Given the description of an element on the screen output the (x, y) to click on. 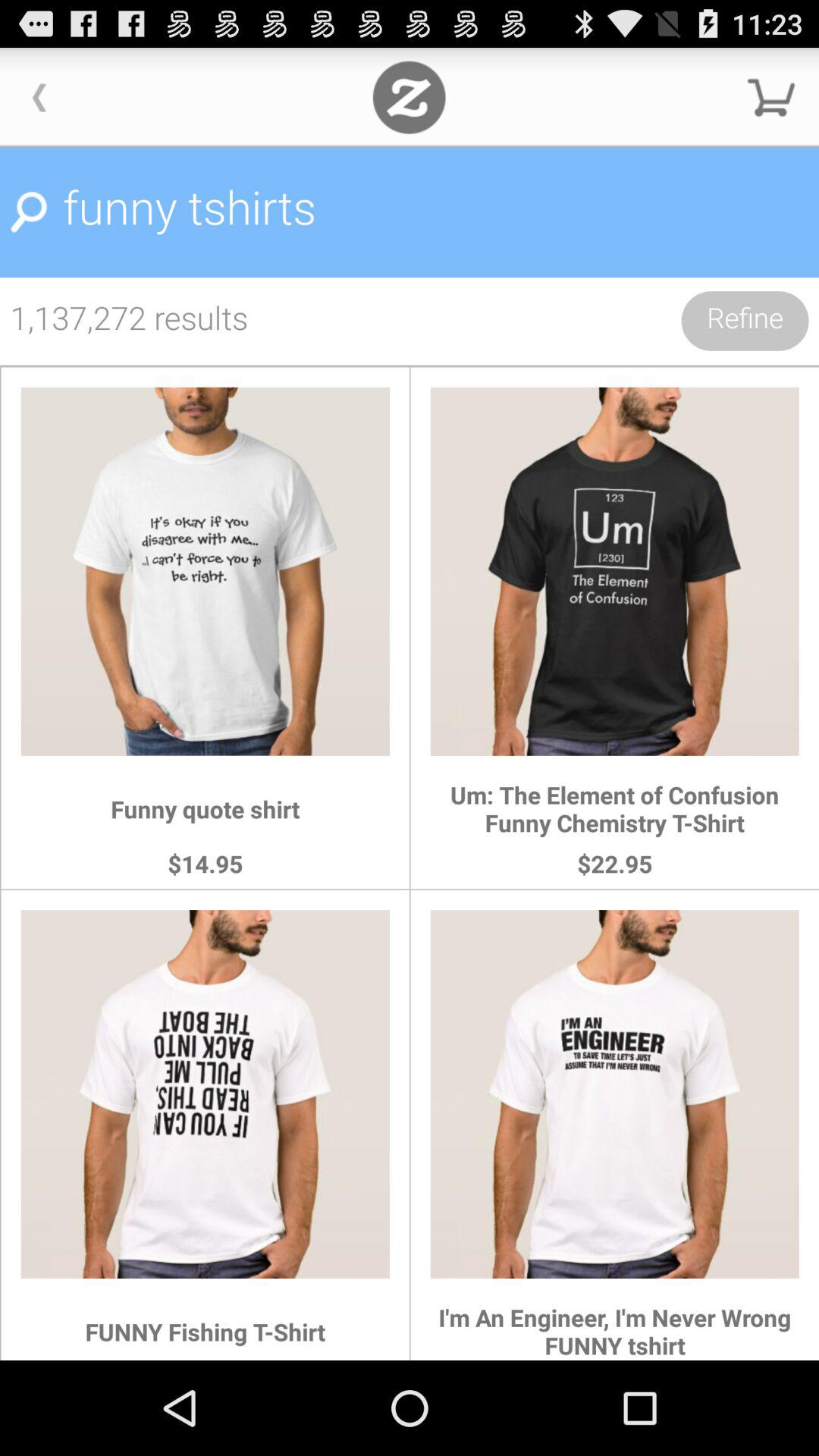
go to cart (771, 97)
